Given the description of an element on the screen output the (x, y) to click on. 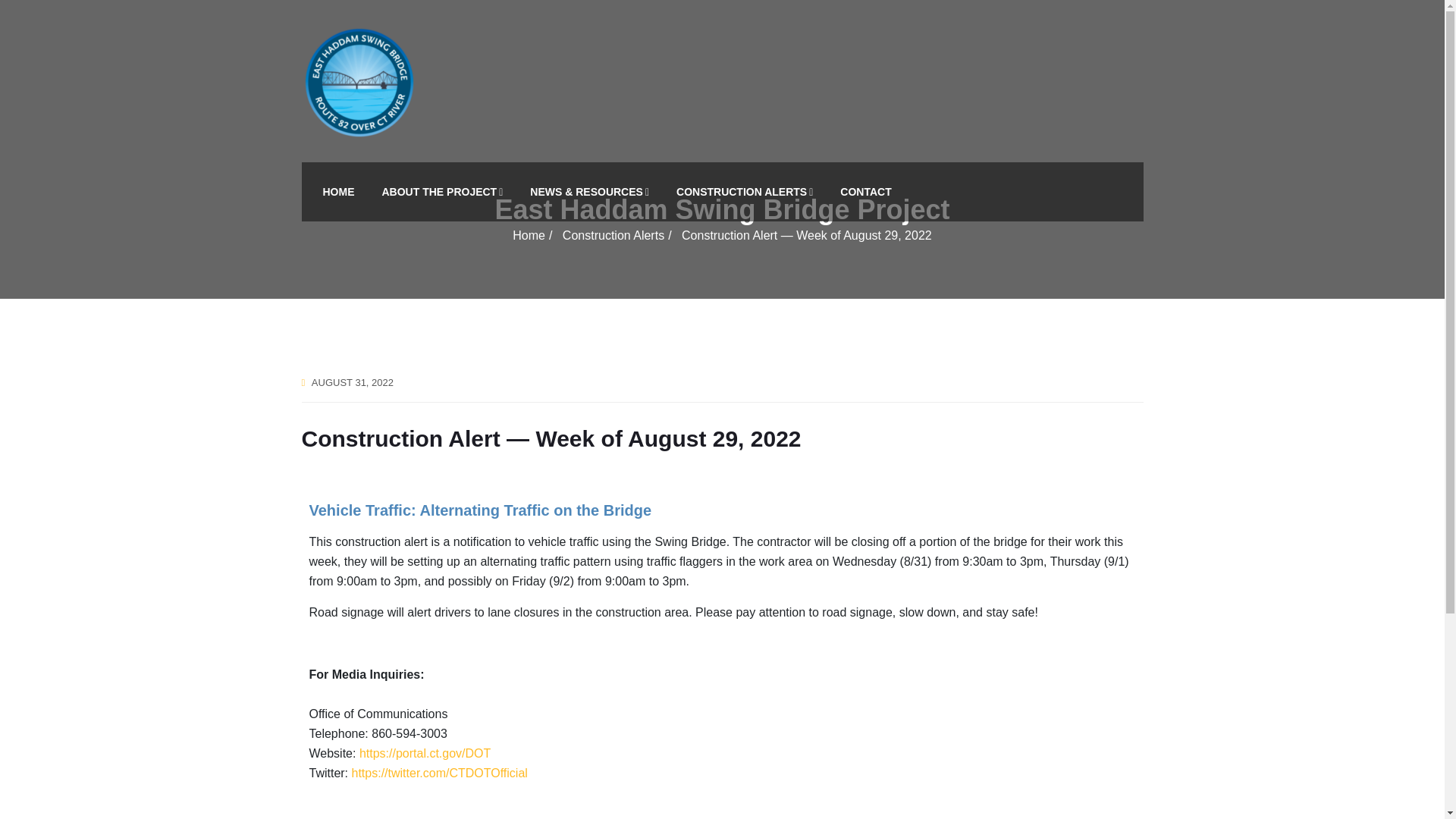
CONTACT (865, 191)
Home (528, 235)
HOME (338, 191)
ABOUT THE PROJECT (442, 191)
CONSTRUCTION ALERTS (744, 191)
